Given the description of an element on the screen output the (x, y) to click on. 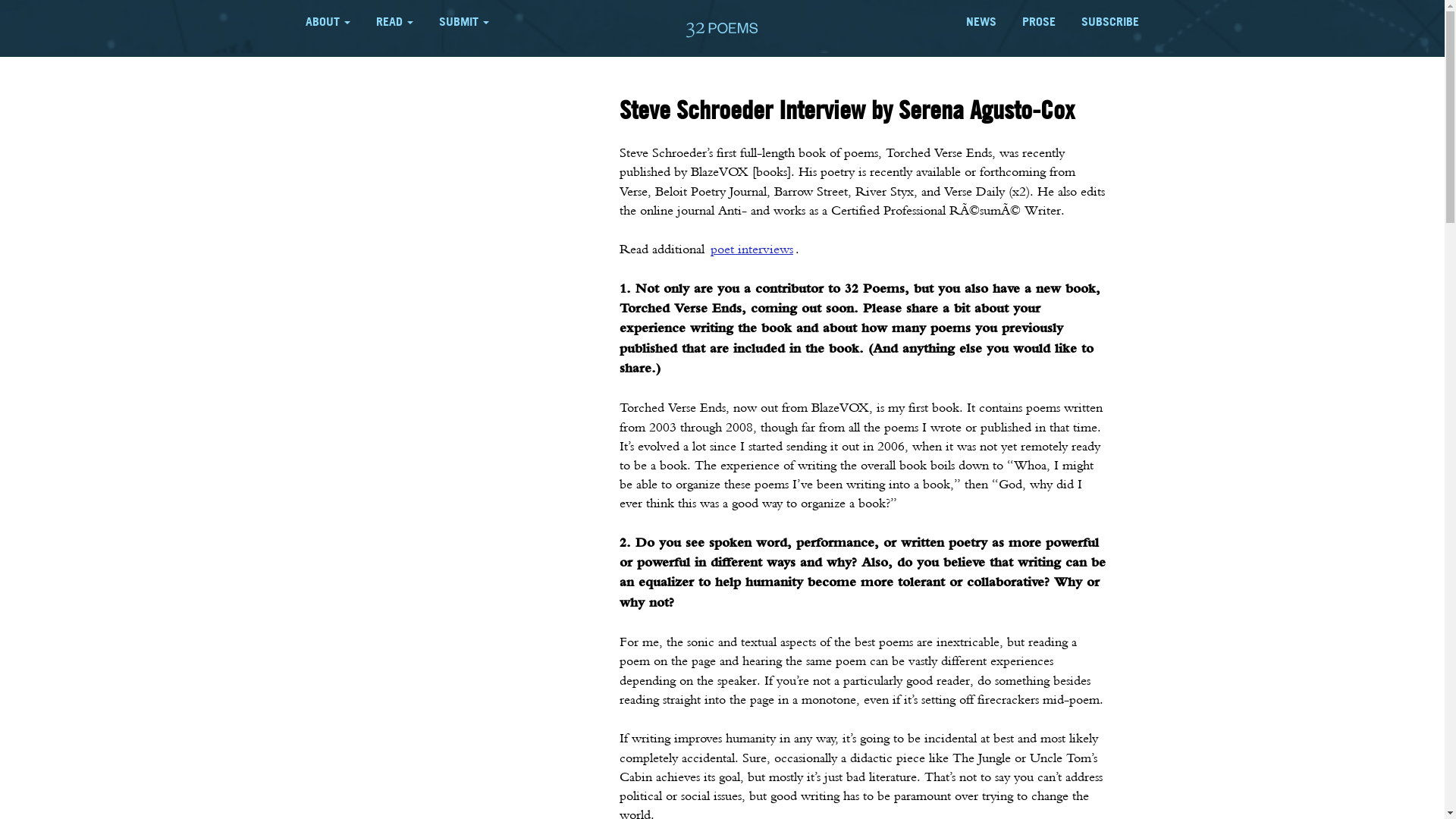
NEWS Element type: text (980, 21)
poet interviews Element type: text (751, 248)
ABOUT Element type: text (327, 21)
SUBMIT Element type: text (463, 21)
3 Element type: text (721, 32)
PROSE Element type: text (1038, 21)
READ Element type: text (393, 21)
SUBSCRIBE Element type: text (1110, 21)
